Given the description of an element on the screen output the (x, y) to click on. 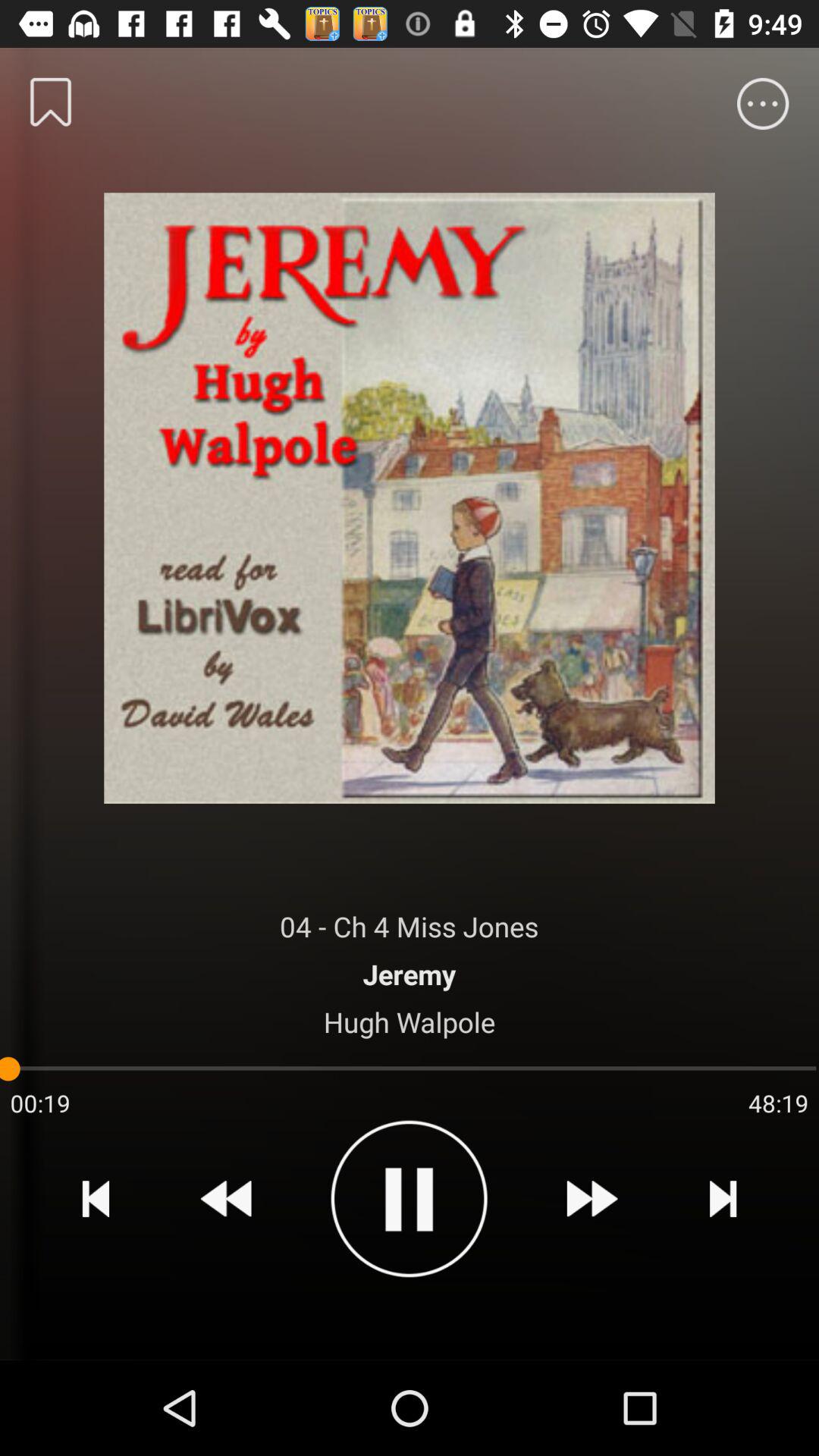
scroll to 04 ch 4 (408, 926)
